Given the description of an element on the screen output the (x, y) to click on. 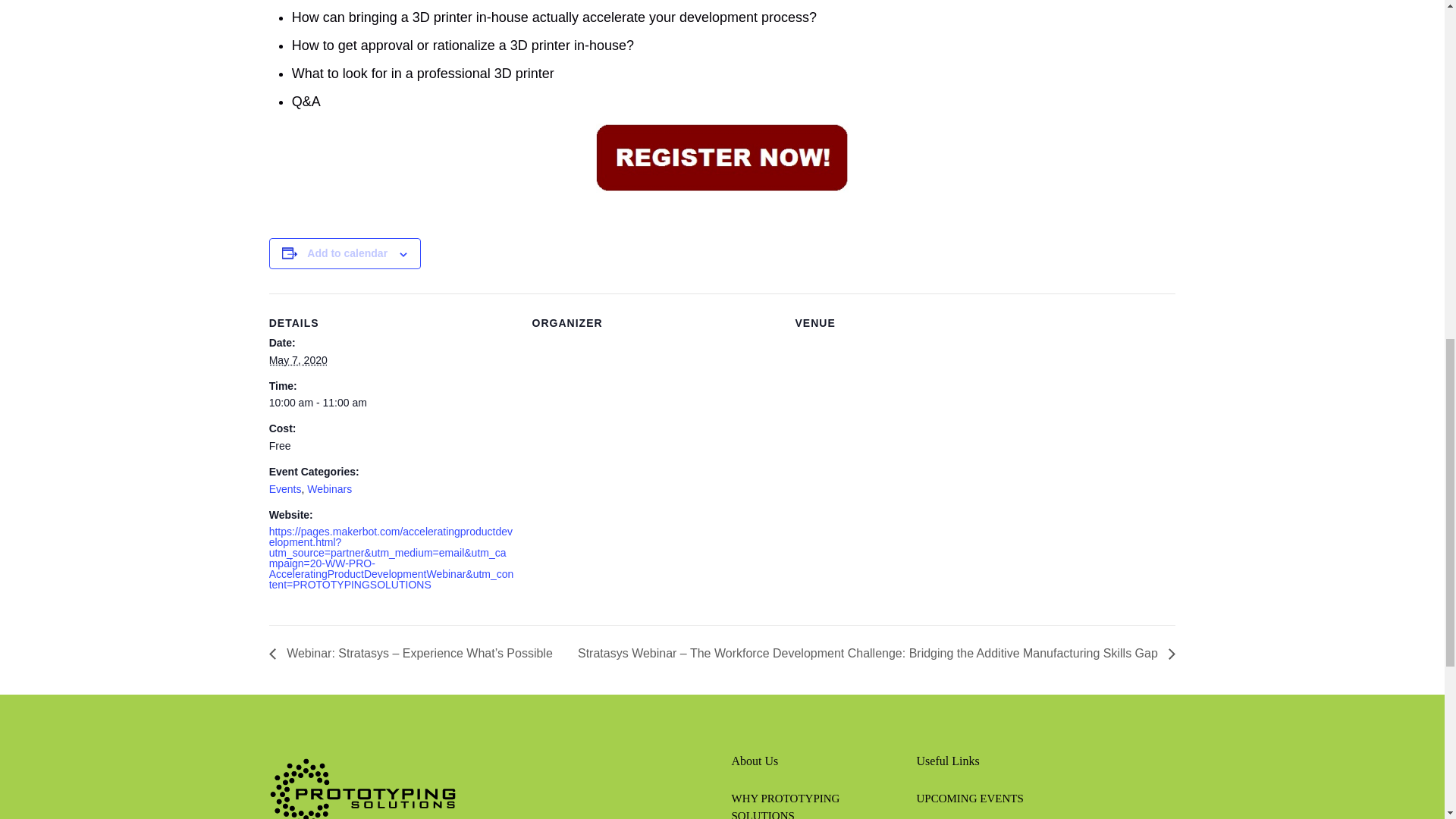
2020-05-07 (298, 359)
2020-05-07 (391, 402)
